Given the description of an element on the screen output the (x, y) to click on. 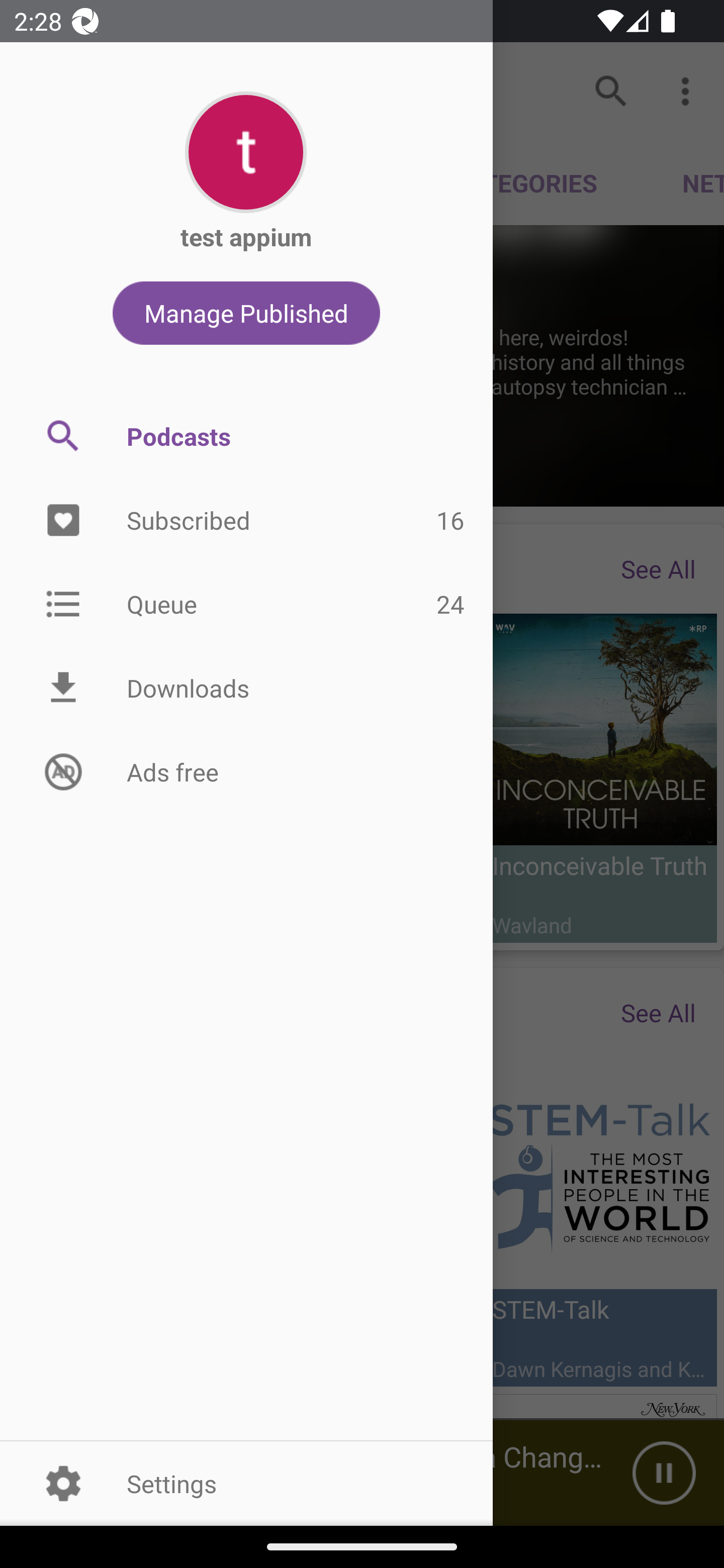
Manage Published (246, 312)
Picture Podcasts (246, 435)
Picture Subscribed 16 (246, 520)
Picture Queue 24 (246, 603)
Picture Downloads (246, 688)
Picture Ads free (246, 771)
Pause (663, 1472)
